Given the description of an element on the screen output the (x, y) to click on. 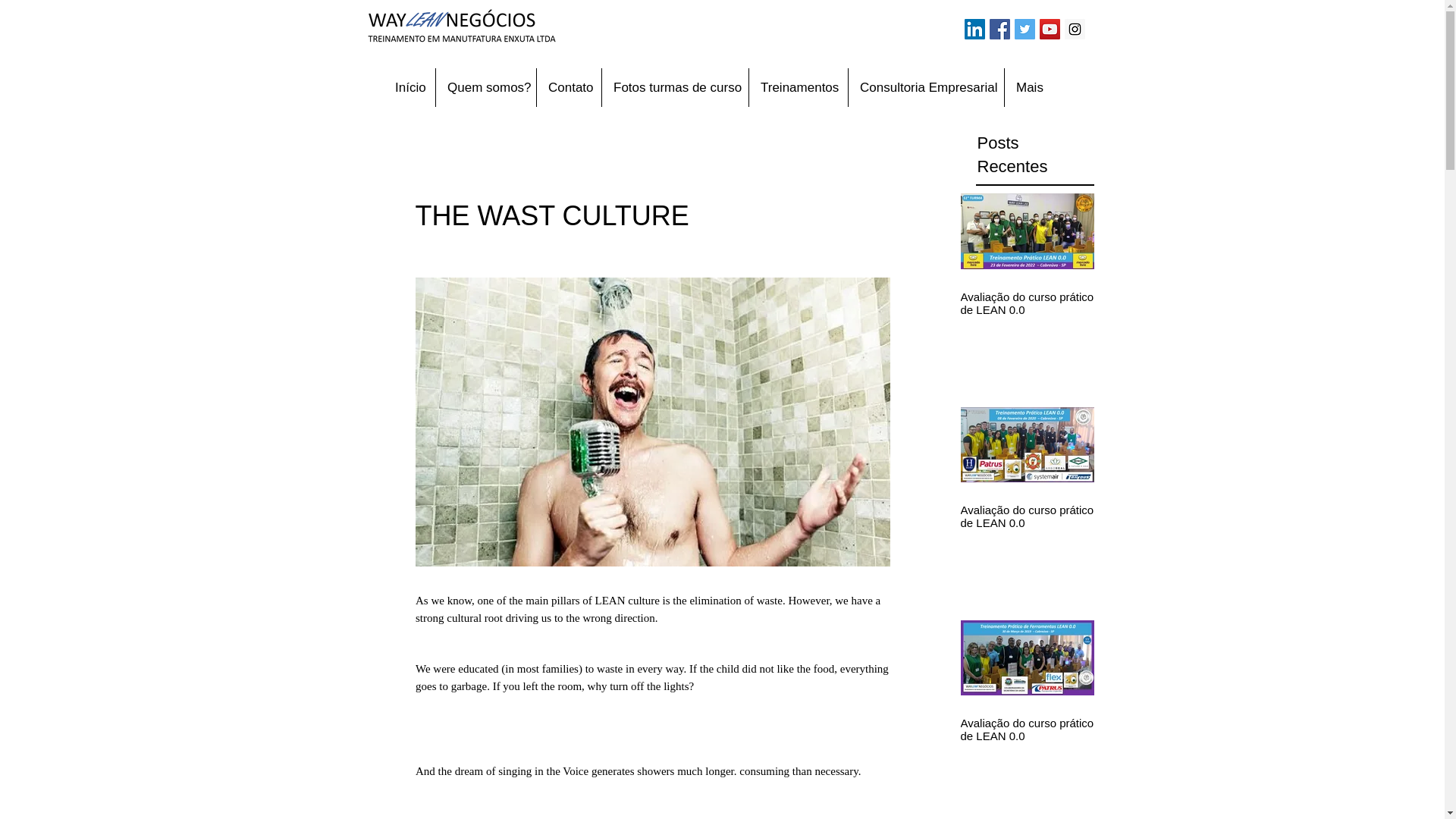
Fotos turmas de curso (675, 87)
Quem somos? (485, 87)
Contato (569, 87)
